Given the description of an element on the screen output the (x, y) to click on. 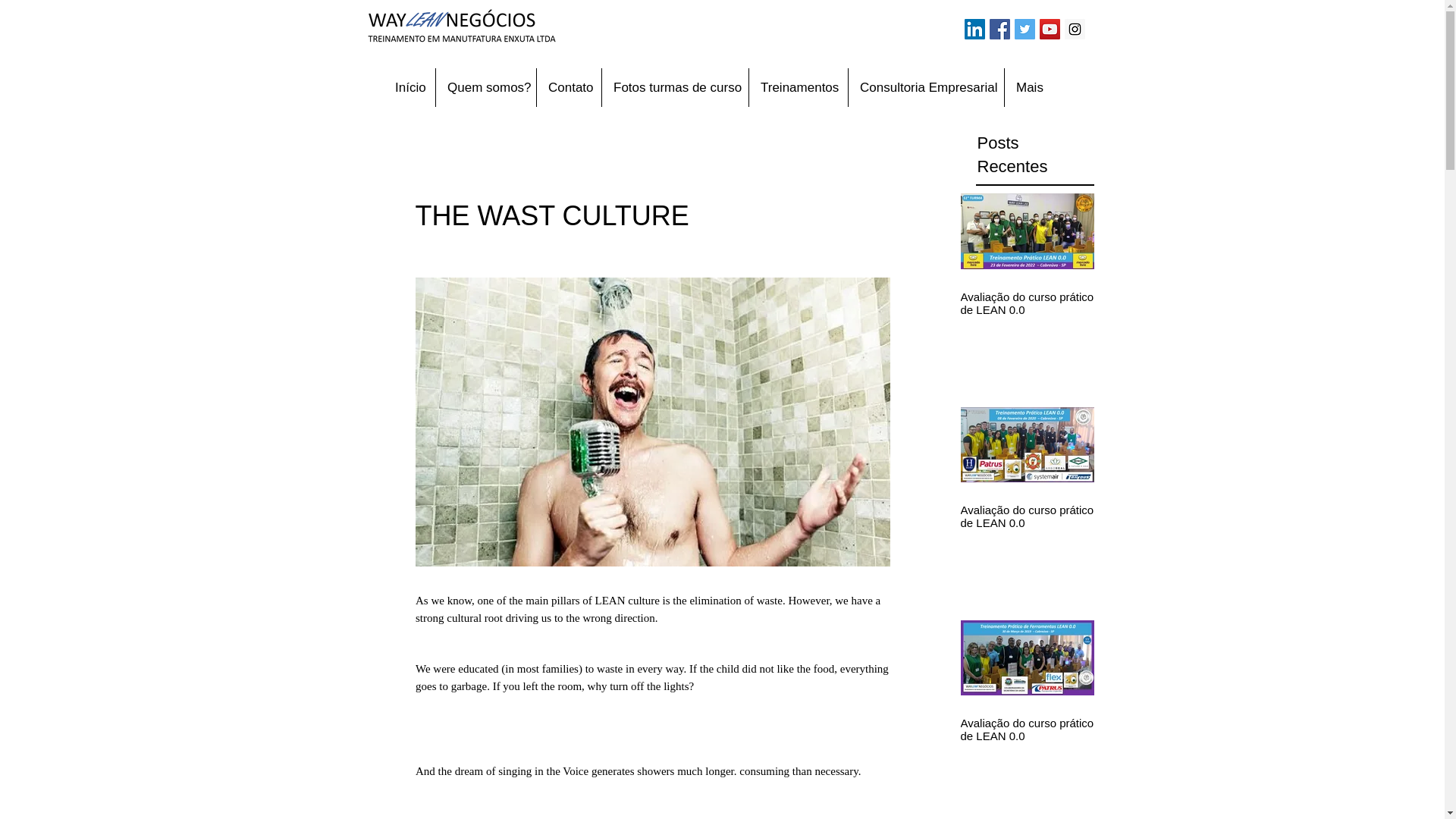
Fotos turmas de curso (675, 87)
Quem somos? (485, 87)
Contato (569, 87)
